Given the description of an element on the screen output the (x, y) to click on. 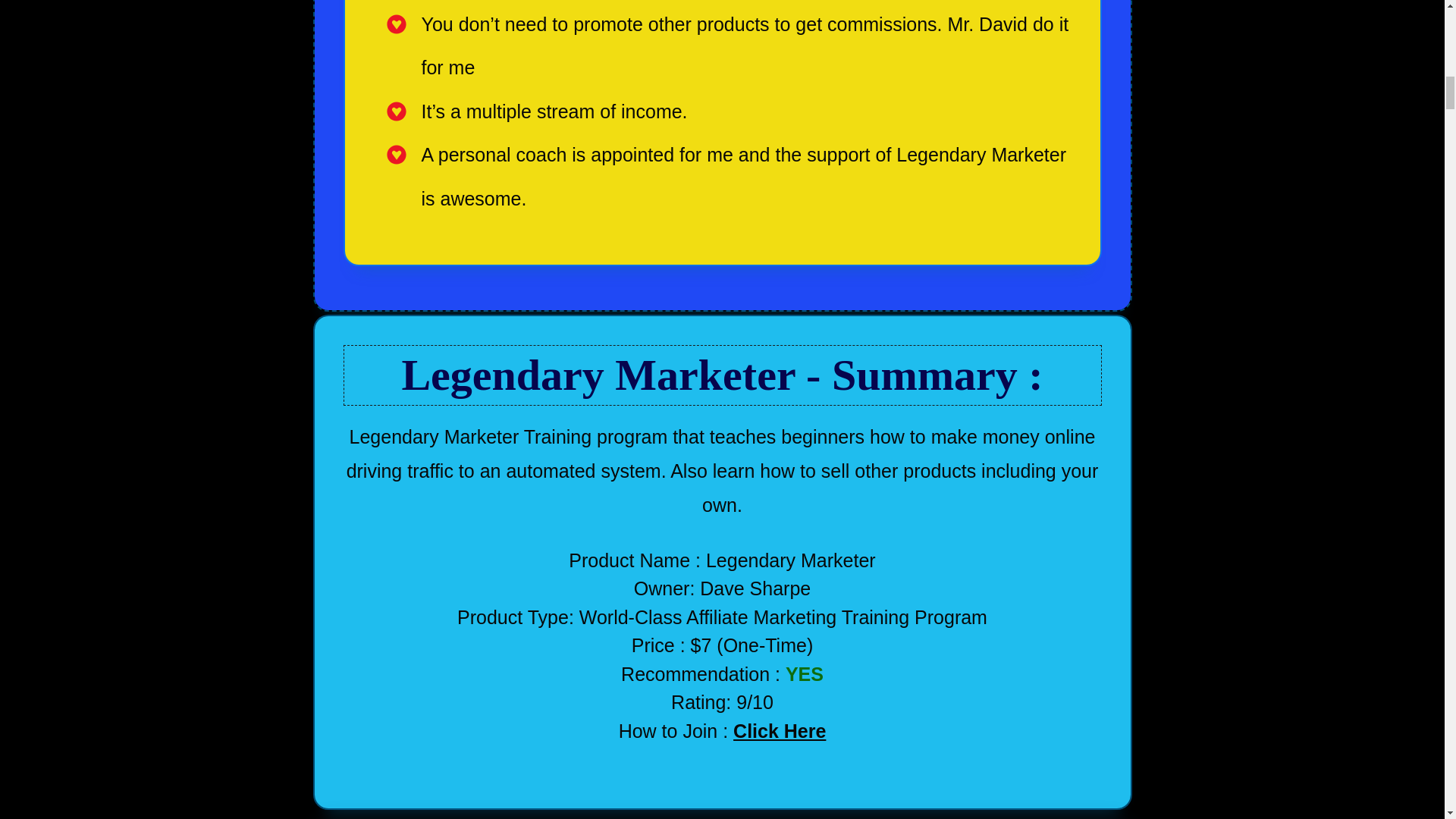
Click Here (779, 731)
